Given the description of an element on the screen output the (x, y) to click on. 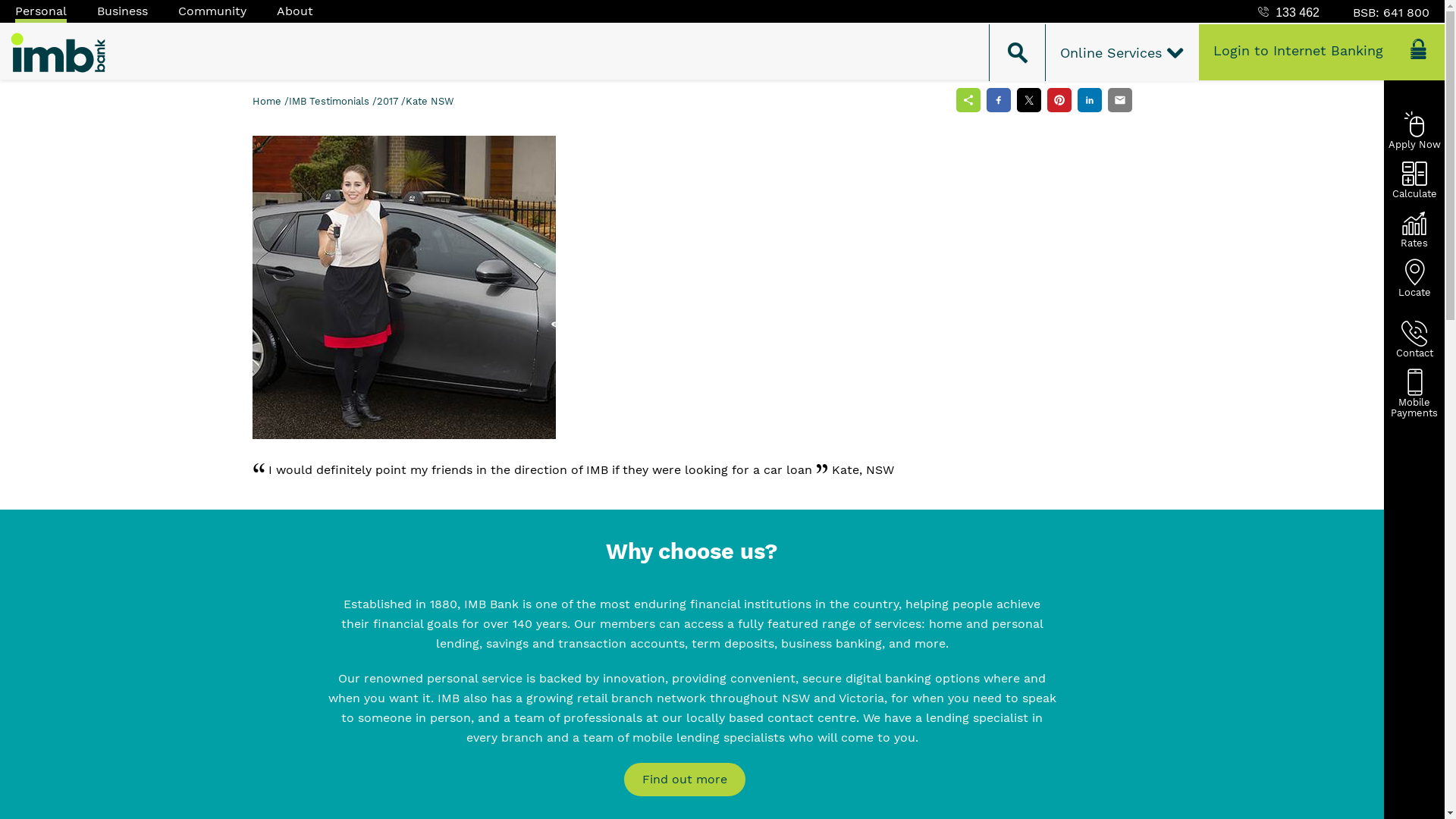
Login to Internet Banking Element type: text (1321, 52)
Personal Element type: text (40, 10)
IMB Testimonials Element type: text (329, 100)
Locate Element type: text (1414, 277)
Calculate Element type: text (1414, 179)
Business Element type: text (122, 10)
Contact Element type: text (1414, 338)
About Element type: text (294, 10)
Mobile Payments Element type: text (1414, 387)
Apply Now Element type: text (1414, 129)
Home Element type: text (267, 100)
Find out more Element type: text (683, 779)
Rates Element type: text (1414, 228)
Kate NSW Element type: text (428, 100)
Community Element type: text (212, 10)
